Given the description of an element on the screen output the (x, y) to click on. 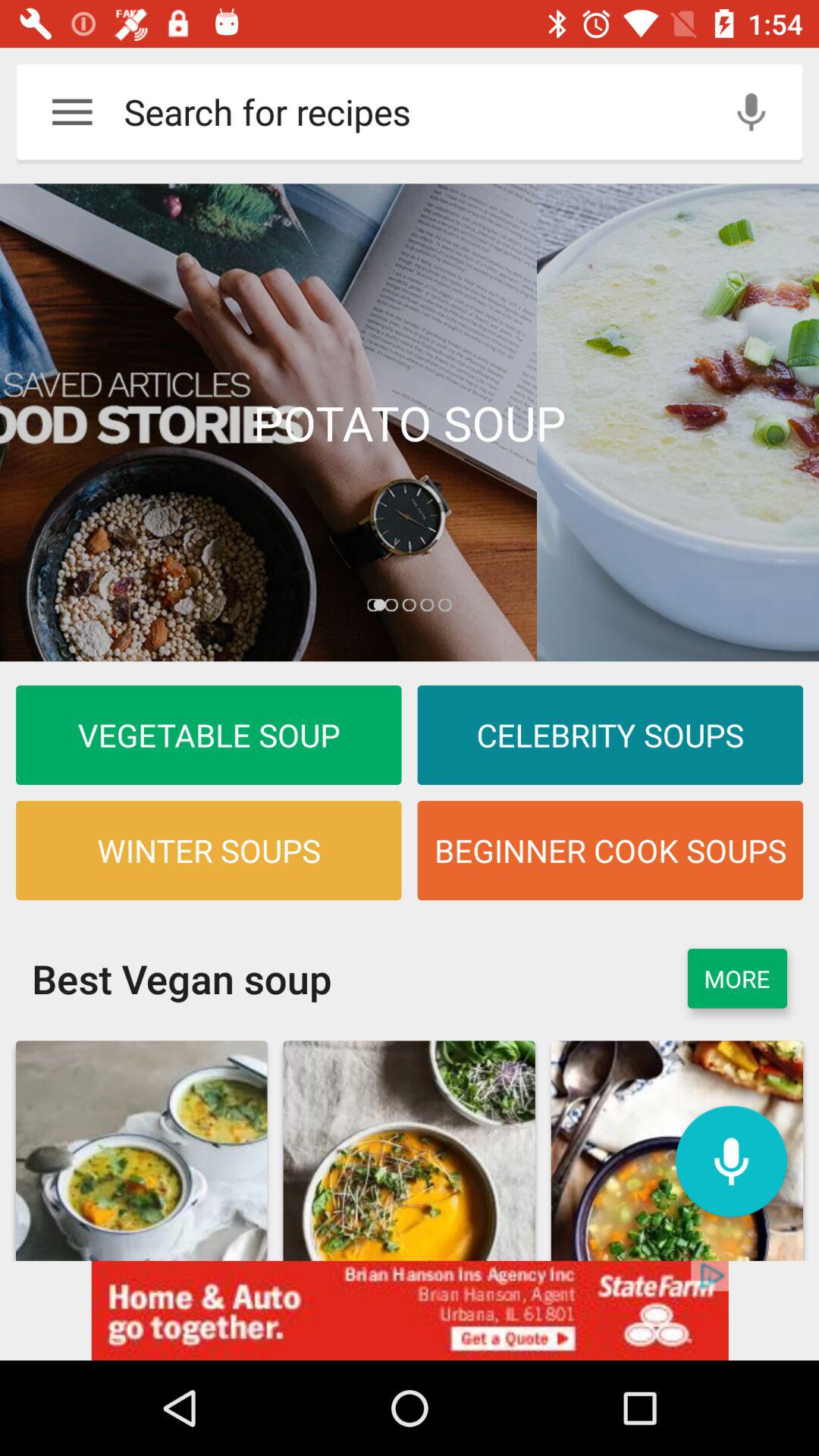
advertisement page (409, 422)
